Given the description of an element on the screen output the (x, y) to click on. 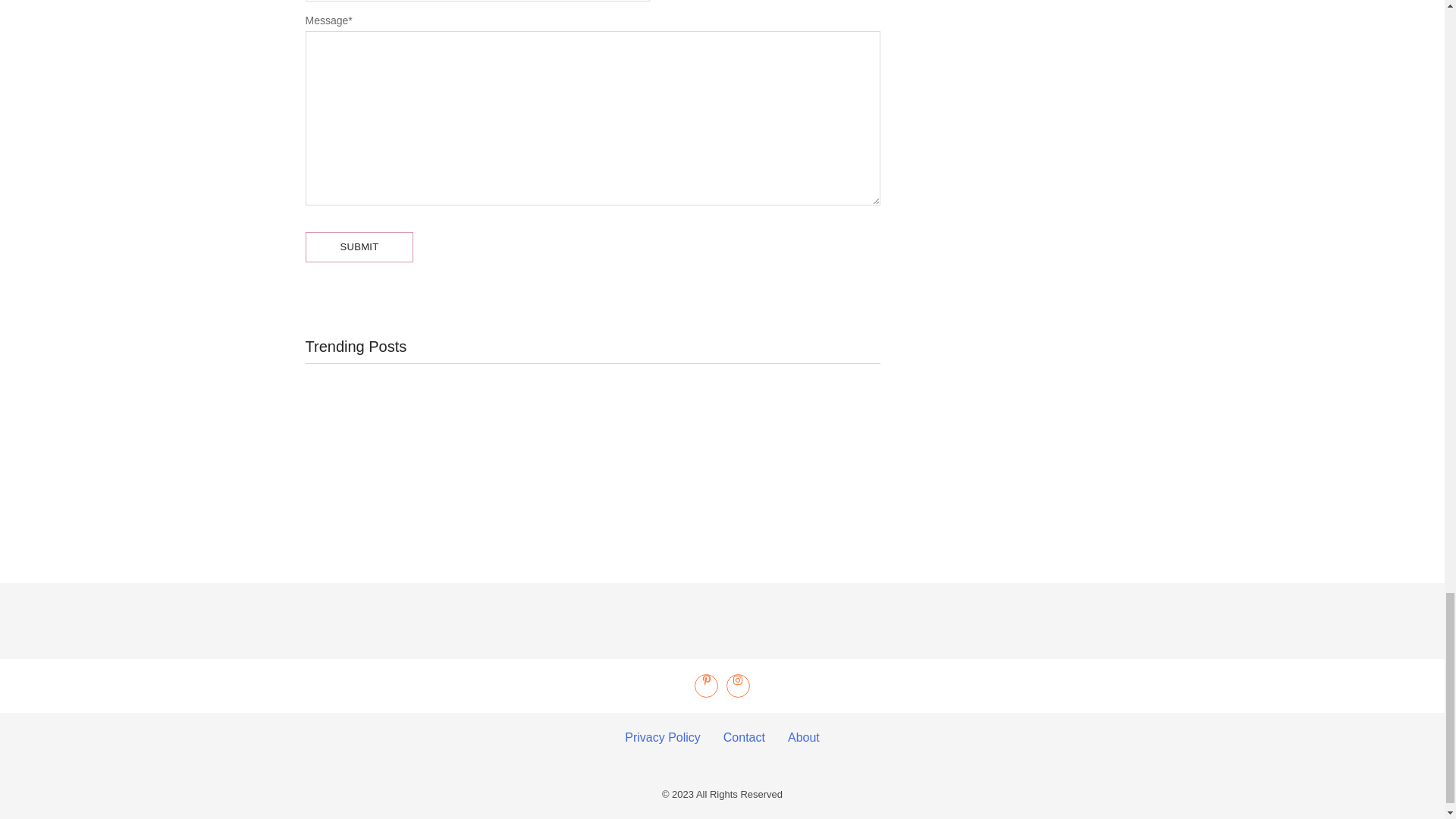
Submit (358, 246)
